Given the description of an element on the screen output the (x, y) to click on. 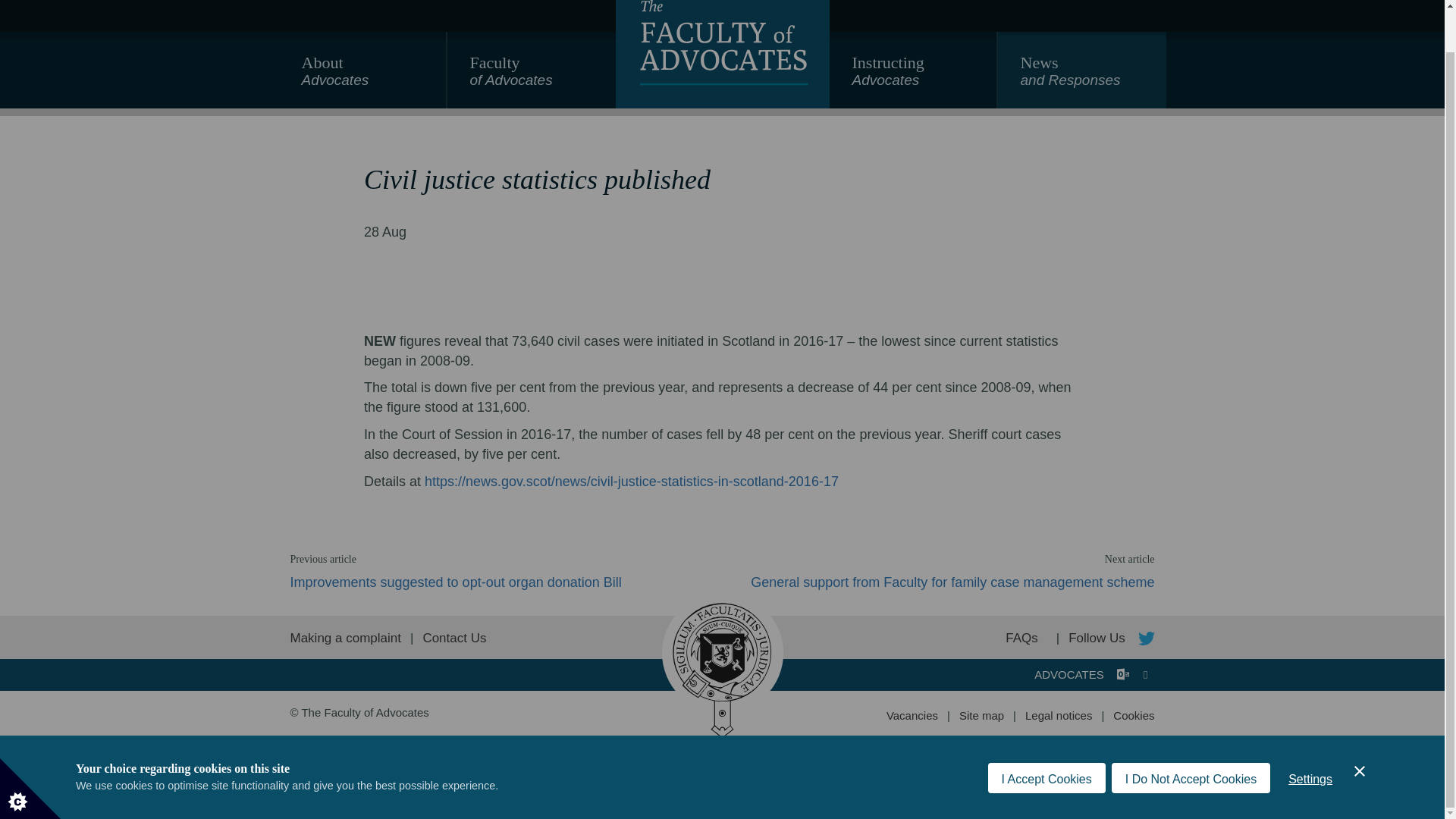
Settings (912, 77)
SEARCH (1309, 743)
Outlook (530, 77)
I Do Not Accept Cookies (1066, 2)
FIND AN ADVOCATE (1122, 674)
I Accept Cookies (1190, 747)
